Given the description of an element on the screen output the (x, y) to click on. 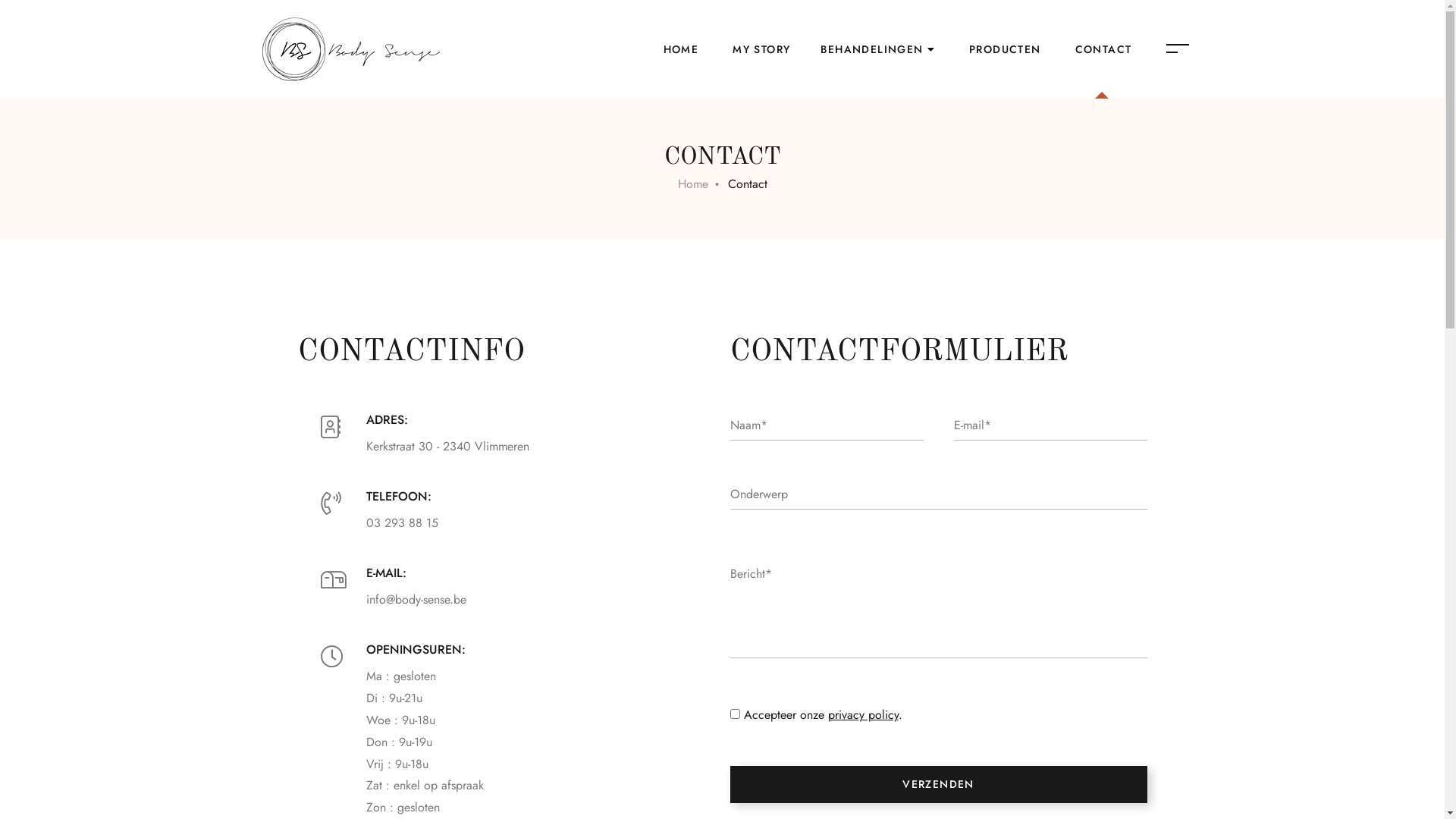
Home Element type: text (692, 183)
PRODUCTEN Element type: text (1003, 49)
CONTACT Element type: text (1101, 49)
MY STORY Element type: text (759, 49)
privacy policy Element type: text (863, 714)
Verzenden Element type: text (937, 784)
HOME Element type: text (679, 49)
BEHANDELINGEN Element type: text (877, 49)
Body Sense - Schoonheidssalon Vlimmeren Element type: hover (350, 49)
